Given the description of an element on the screen output the (x, y) to click on. 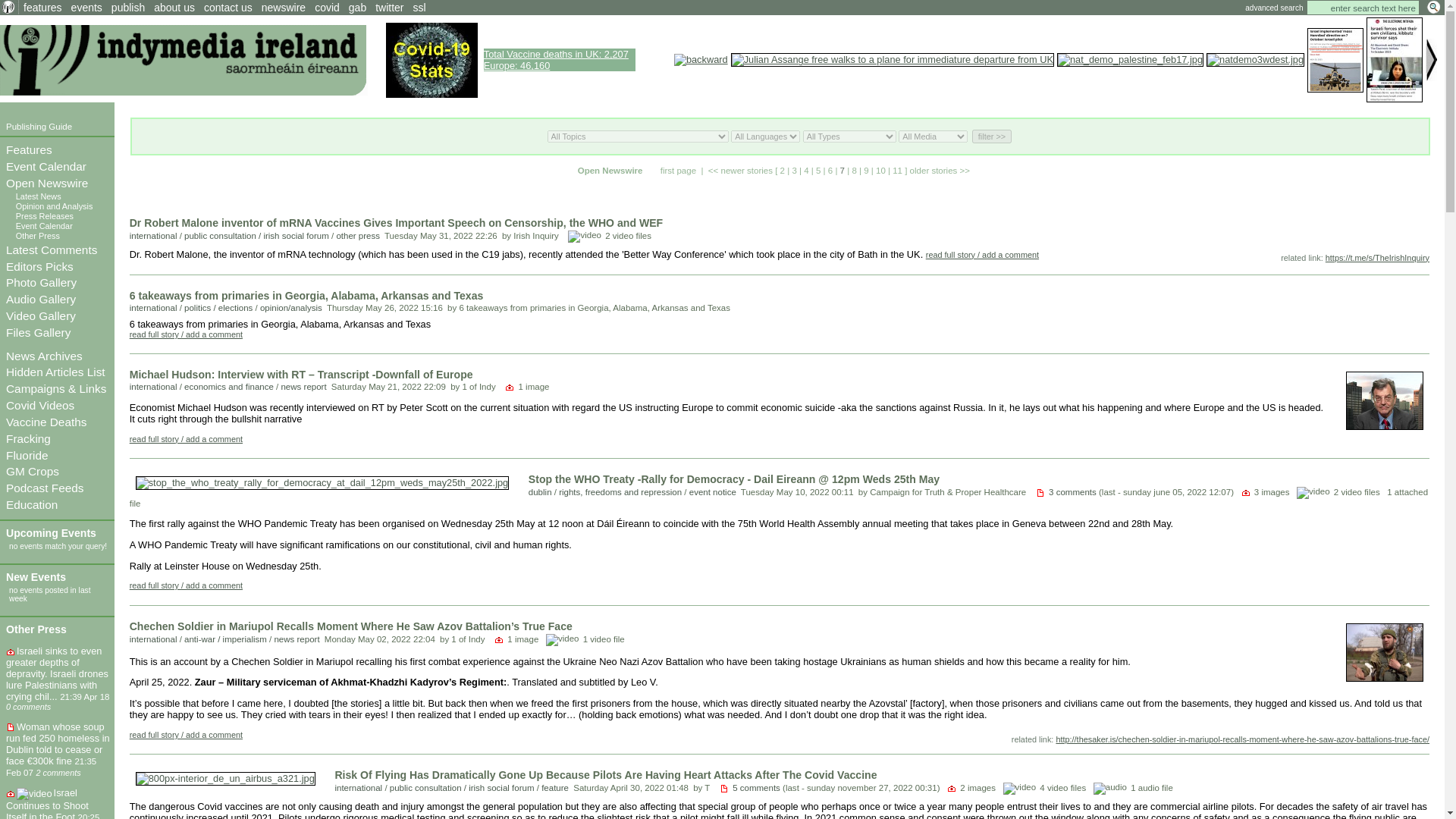
covid (326, 7)
Open Newswire (46, 182)
about us (174, 7)
advanced search (1273, 8)
Event Calendar (44, 225)
Features (28, 149)
Latest Comments (51, 249)
events (86, 7)
Video Gallery (40, 315)
Event Calendar (45, 165)
ssl (419, 7)
backward (701, 60)
features (42, 7)
contact us (228, 7)
